Given the description of an element on the screen output the (x, y) to click on. 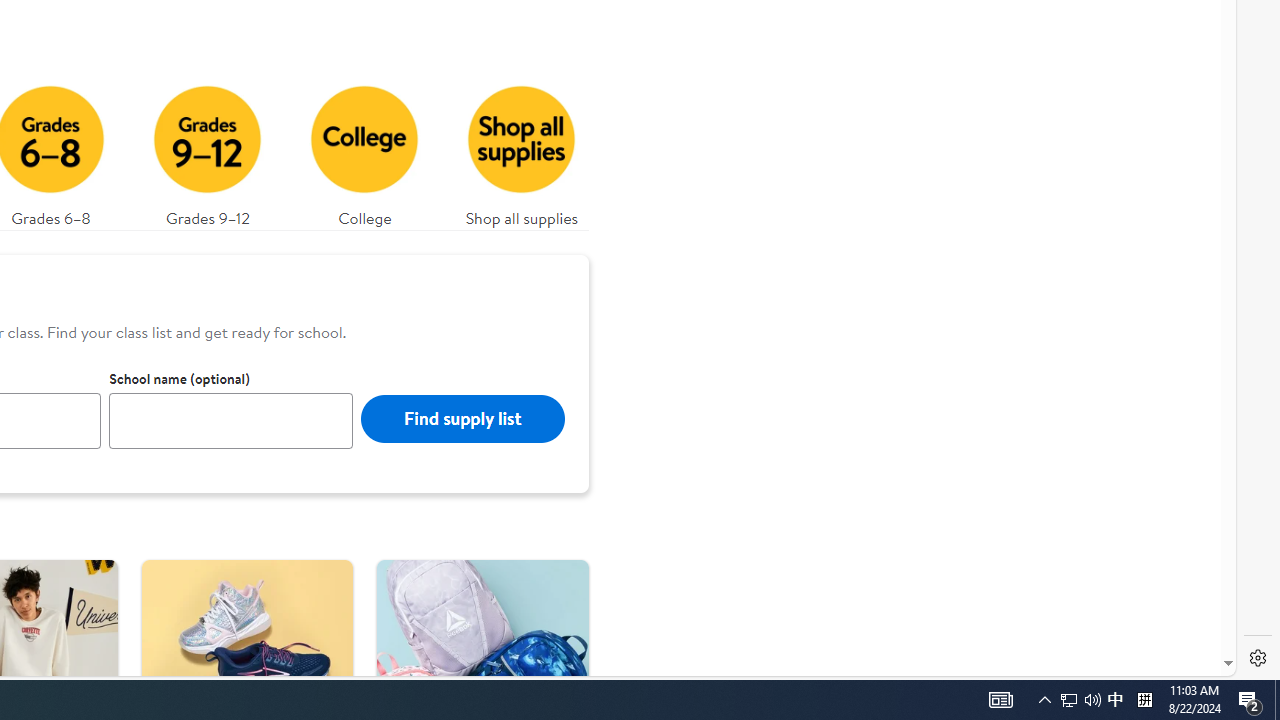
School name (optional) (231, 420)
Find supply list (462, 417)
College (365, 150)
Shop all supplies (521, 150)
College (364, 150)
Shop all supplies (521, 150)
